Given the description of an element on the screen output the (x, y) to click on. 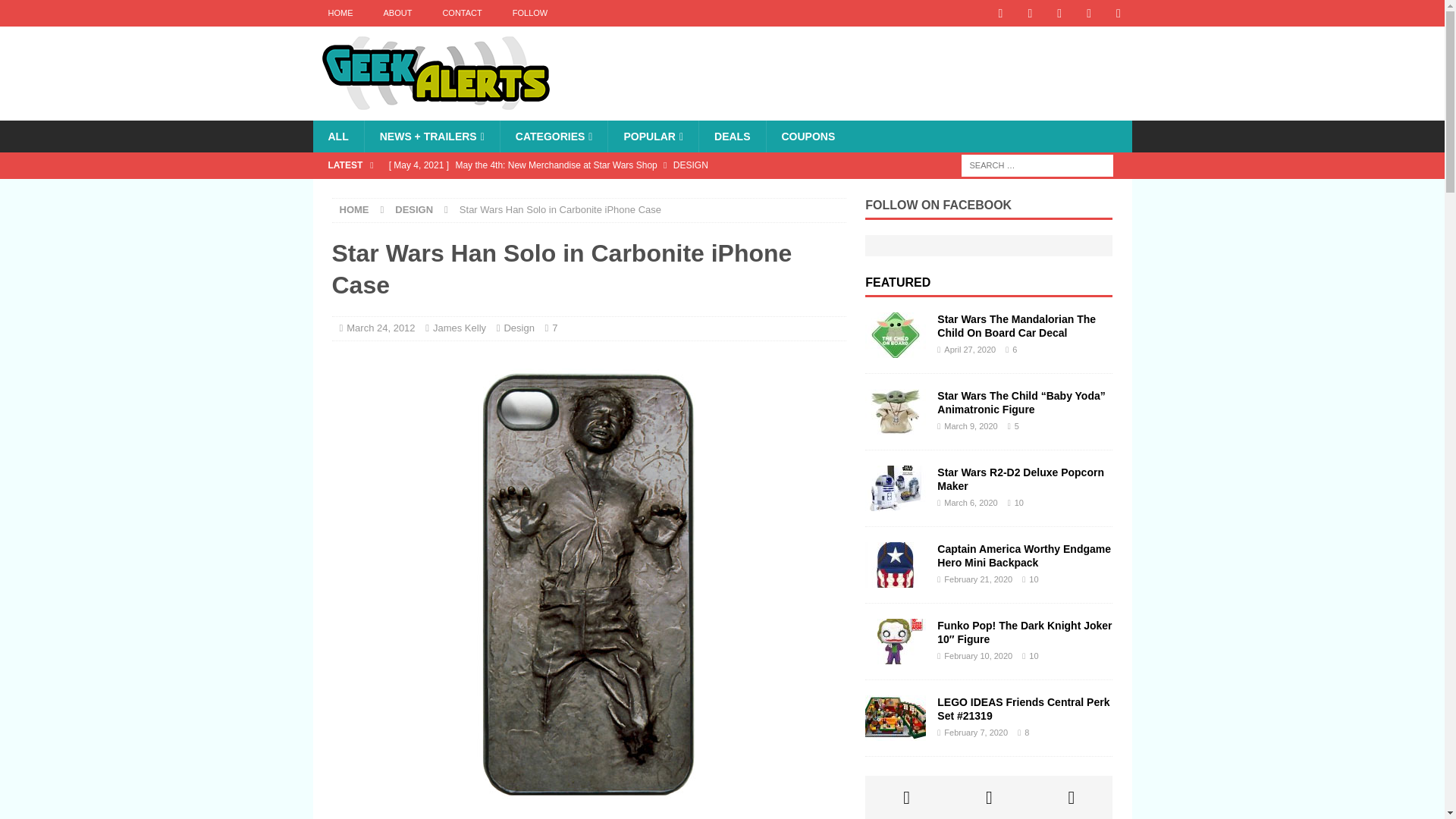
HOME (340, 13)
Search (56, 11)
DEALS (731, 136)
HOME (354, 209)
May the 4th: New Merchandise at Star Wars Shop (612, 165)
COUPONS (807, 136)
POPULAR (652, 136)
ABOUT (398, 13)
ALL (337, 136)
FOLLOW (529, 13)
Rick and Morty Get Shwifty Bluetooth Speaker (612, 190)
CATEGORIES (553, 136)
CONTACT (461, 13)
